Given the description of an element on the screen output the (x, y) to click on. 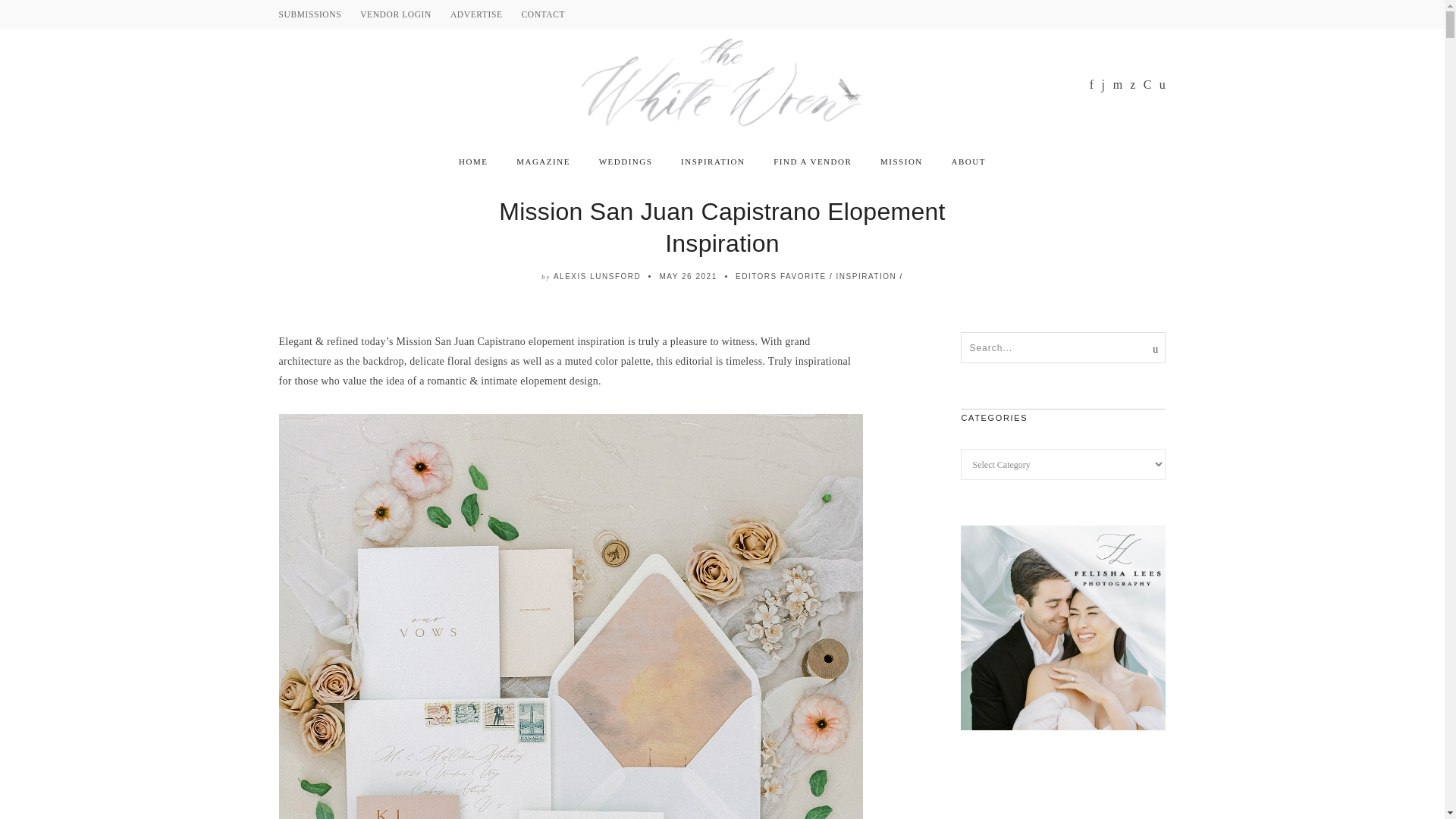
SUBMISSIONS (310, 13)
ADVERTISE (475, 13)
HOME (473, 161)
CONTACT (543, 13)
MAGAZINE (543, 161)
VENDOR LOGIN (394, 13)
